Given the description of an element on the screen output the (x, y) to click on. 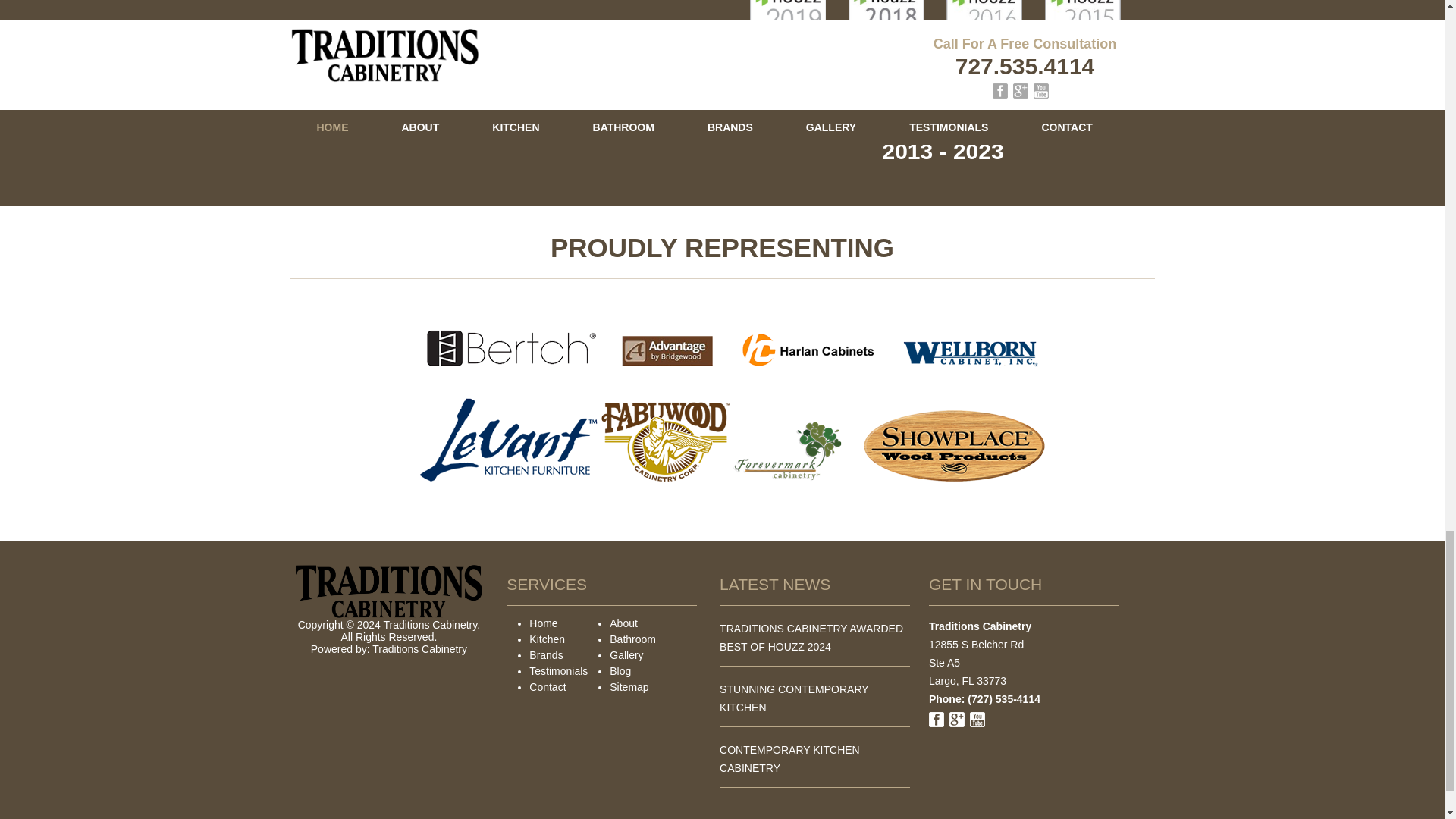
CONTEMPORARY KITCHEN CABINETRY (789, 758)
Traditions Cabinetry (419, 648)
Brands (545, 654)
Traditions Cabinetry - Largo, FL (419, 648)
Gallery (626, 654)
Home (543, 623)
Blog (620, 671)
About (623, 623)
Testimonials (558, 671)
Contact (547, 686)
Bathroom (633, 639)
Kitchen (546, 639)
Sitemap (628, 686)
TRADITIONS CABINETRY AWARDED BEST OF HOUZZ 2024 (810, 637)
STUNNING CONTEMPORARY KITCHEN (793, 698)
